Given the description of an element on the screen output the (x, y) to click on. 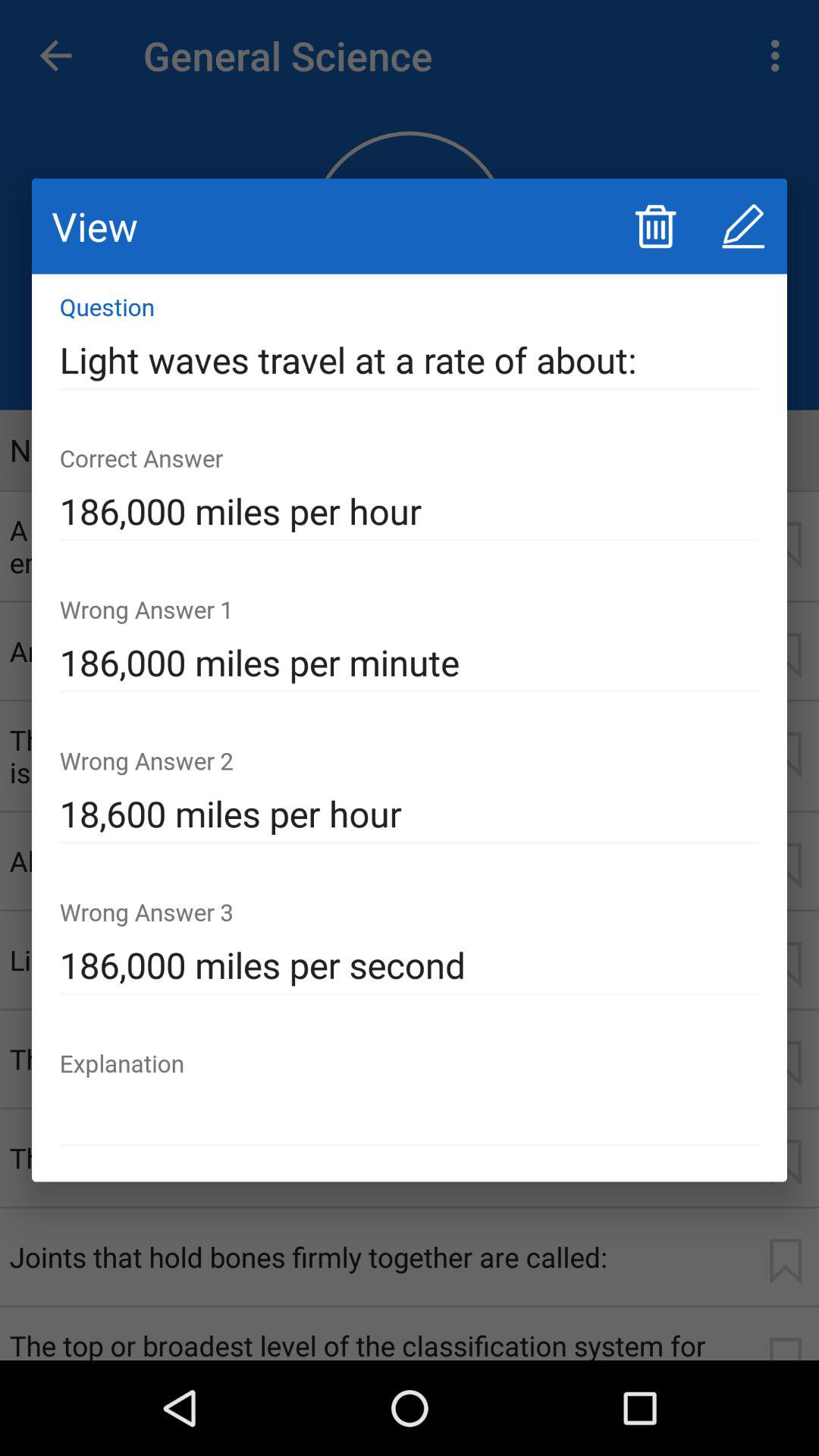
swipe to the (409, 1116)
